Given the description of an element on the screen output the (x, y) to click on. 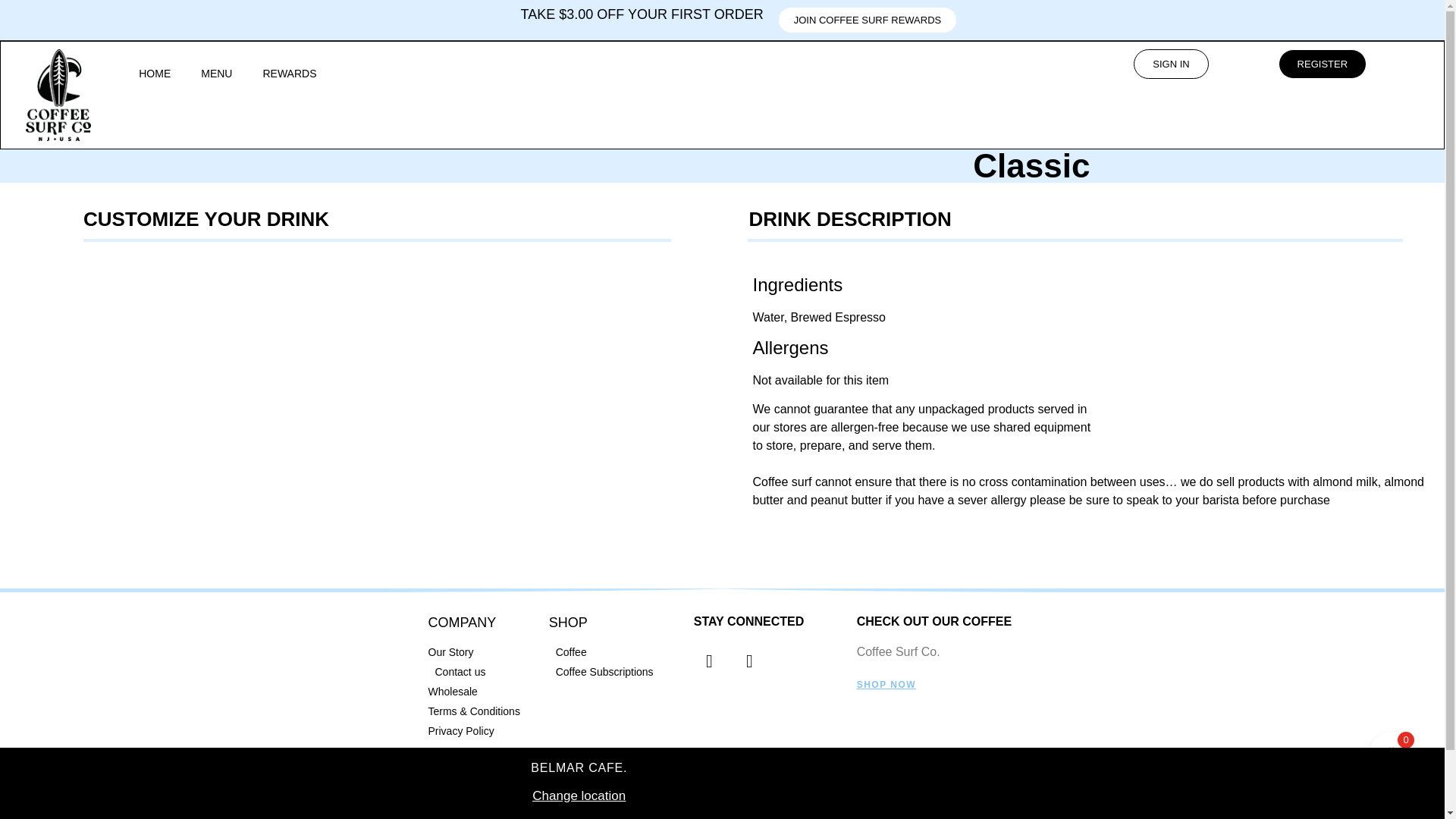
Privacy Policy (480, 731)
Wholesale (480, 691)
Contact us (480, 672)
Change location (578, 795)
JOIN COFFEE SURF REWARDS (867, 19)
MENU (216, 73)
REWARDS (289, 73)
REGISTER (1322, 63)
HOME (154, 73)
Coffee Subscriptions (613, 672)
Coffee (613, 652)
SIGN IN (1171, 63)
Our Story (480, 652)
SHOP NOW (886, 684)
